Given the description of an element on the screen output the (x, y) to click on. 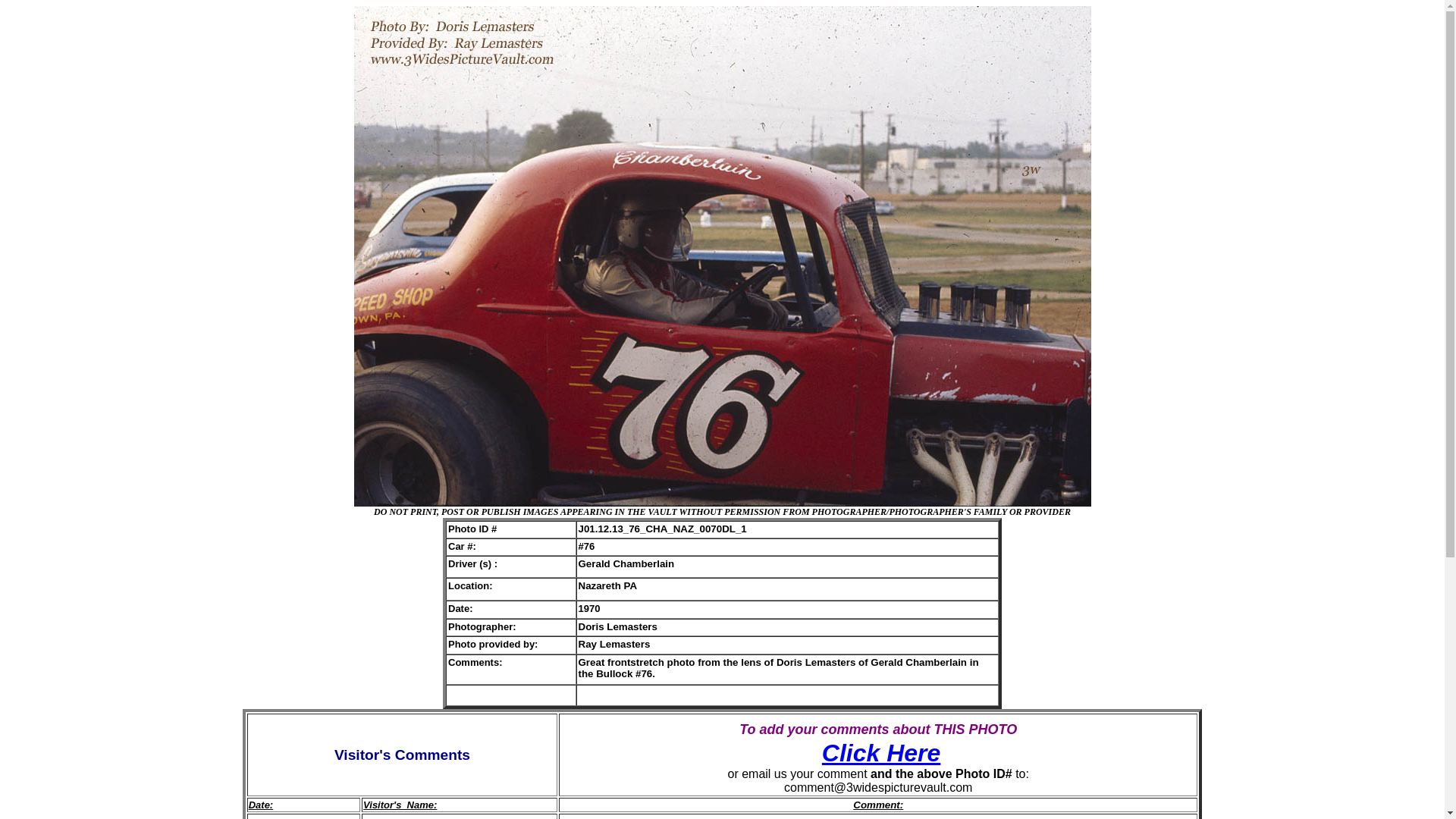
Click Here Element type: text (881, 752)
